Given the description of an element on the screen output the (x, y) to click on. 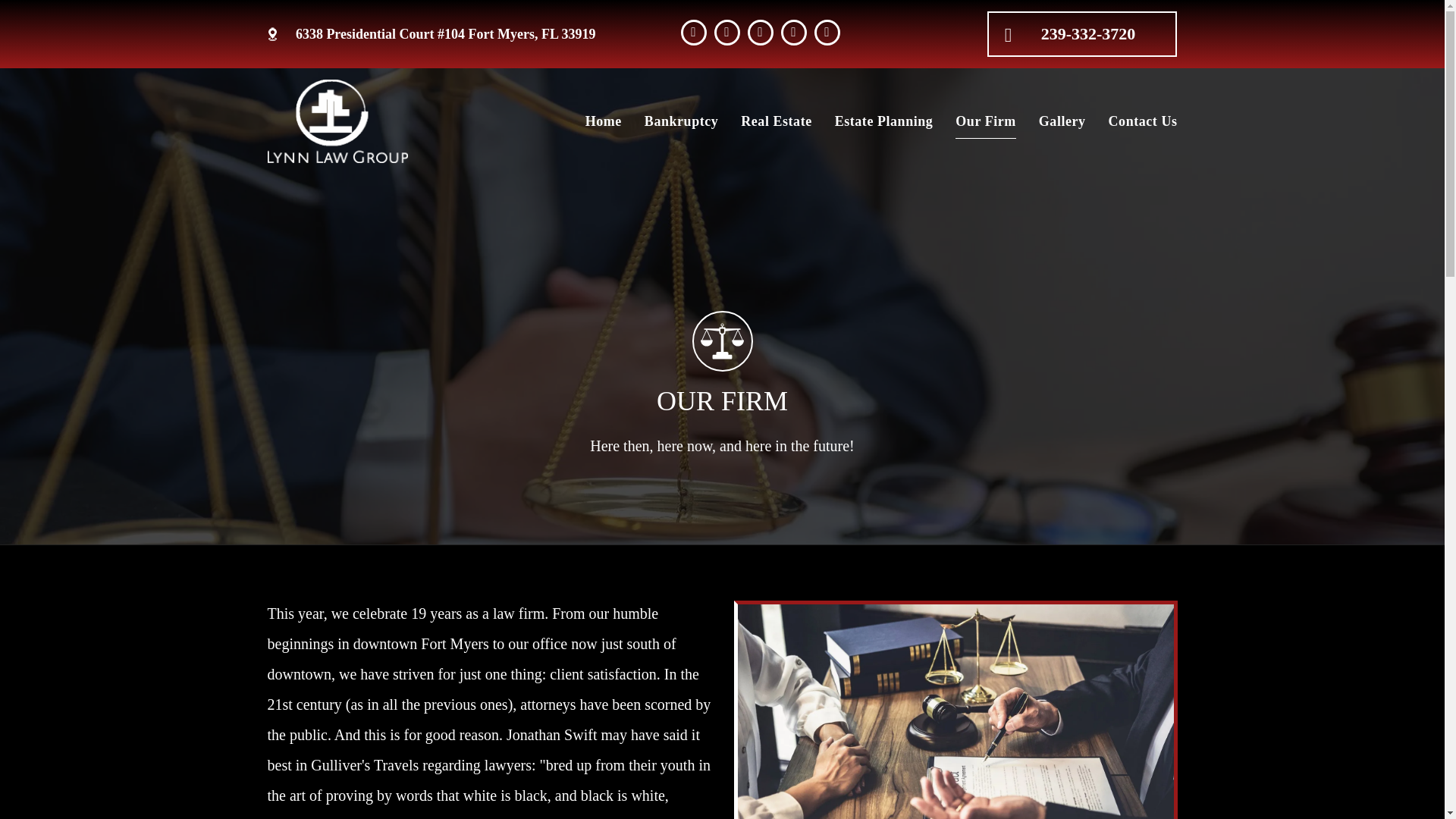
Our Firm (978, 120)
Gallery (1056, 120)
Estate Planning (878, 120)
Bankruptcy (675, 120)
Contact Us (1137, 120)
Lynn Law Group (336, 120)
239-332-3720 (1081, 33)
Real Estate (769, 120)
Home (597, 120)
